Given the description of an element on the screen output the (x, y) to click on. 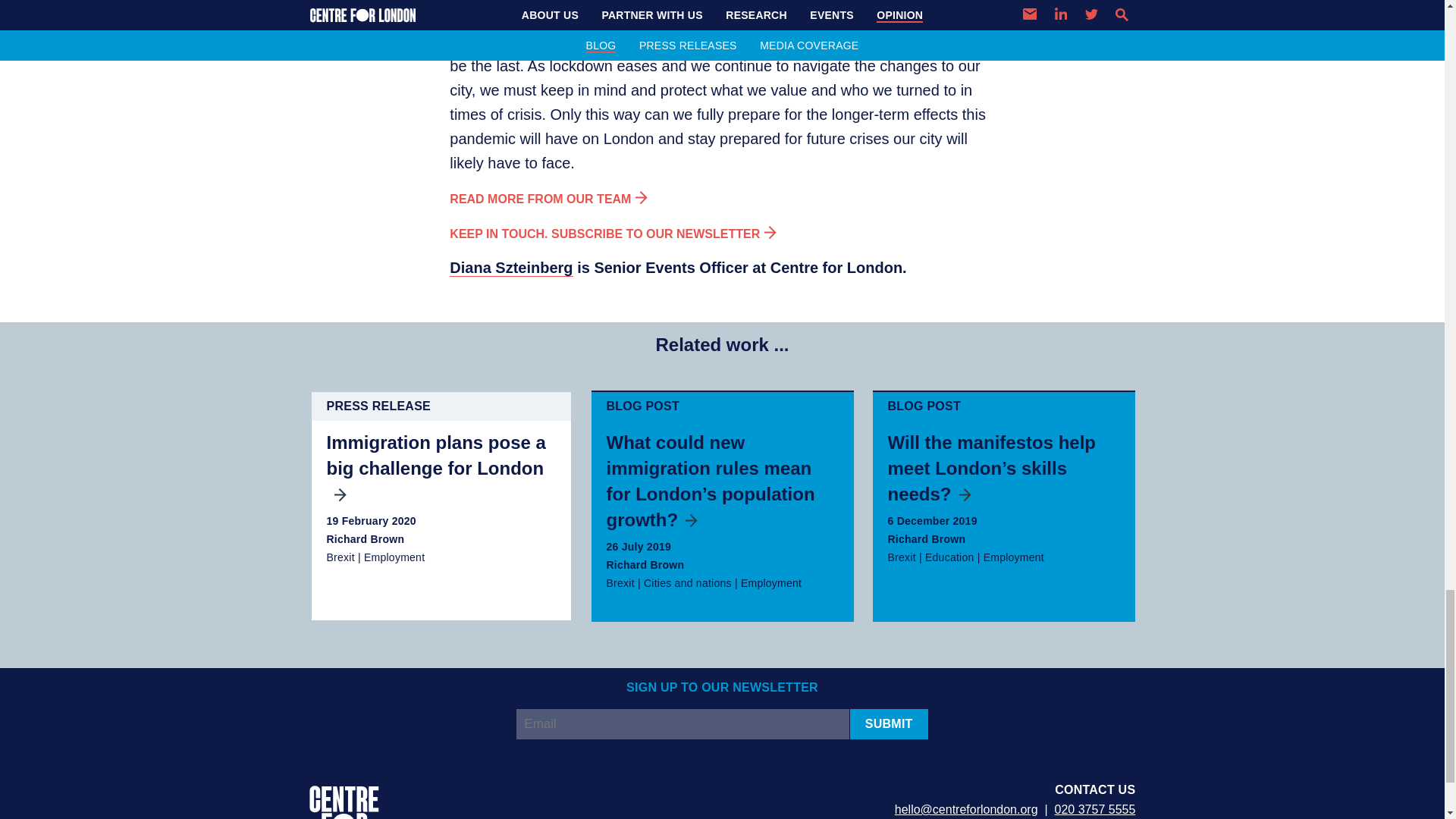
Search for content tagged as Cities and nations (687, 582)
Submit (889, 724)
Search for content tagged as Employment (771, 582)
Search for content tagged as Brexit (900, 557)
Search for content tagged as Employment (394, 557)
Search for content tagged as Employment (1013, 557)
Search for content tagged as Brexit (339, 557)
Search for content tagged as Education (949, 557)
Search for content tagged as Brexit (620, 582)
